Given the description of an element on the screen output the (x, y) to click on. 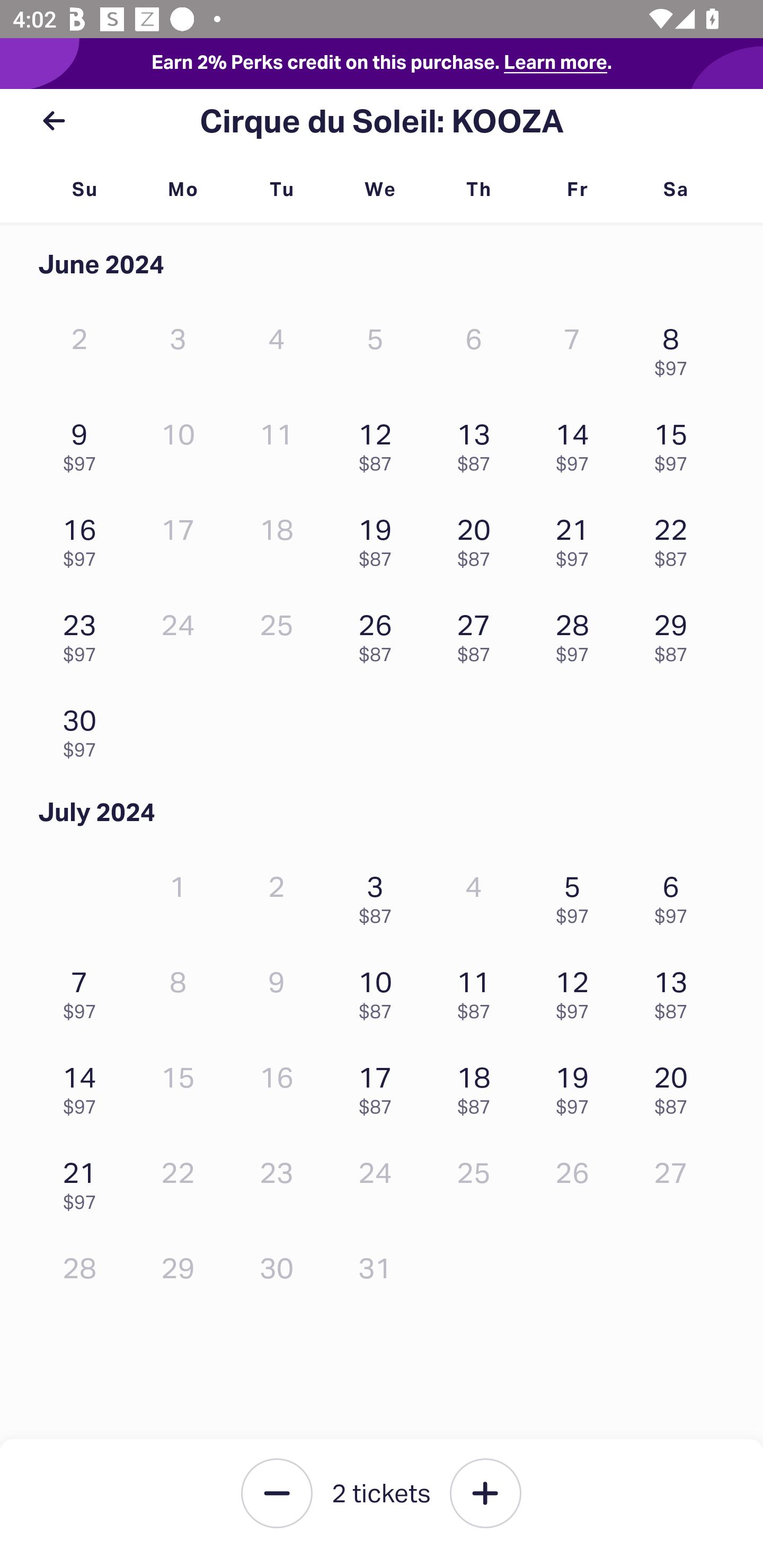
Earn 2% Perks credit on this purchase. Learn more. (381, 63)
back button (53, 120)
8 $97 (675, 347)
9 $97 (84, 442)
12 $87 (379, 442)
13 $87 (478, 442)
14 $97 (577, 442)
15 $97 (675, 442)
16 $97 (84, 538)
19 $87 (379, 538)
20 $87 (478, 538)
21 $97 (577, 538)
22 $87 (675, 538)
23 $97 (84, 633)
26 $87 (379, 633)
27 $87 (478, 633)
28 $97 (577, 633)
29 $87 (675, 633)
30 $97 (84, 728)
3 $87 (379, 895)
5 $97 (577, 895)
6 $97 (675, 895)
7 $97 (84, 989)
10 $87 (379, 989)
11 $87 (478, 989)
12 $97 (577, 989)
13 $87 (675, 989)
14 $97 (84, 1085)
17 $87 (379, 1085)
18 $87 (478, 1085)
19 $97 (577, 1085)
20 $87 (675, 1085)
21 $97 (84, 1181)
